Given the description of an element on the screen output the (x, y) to click on. 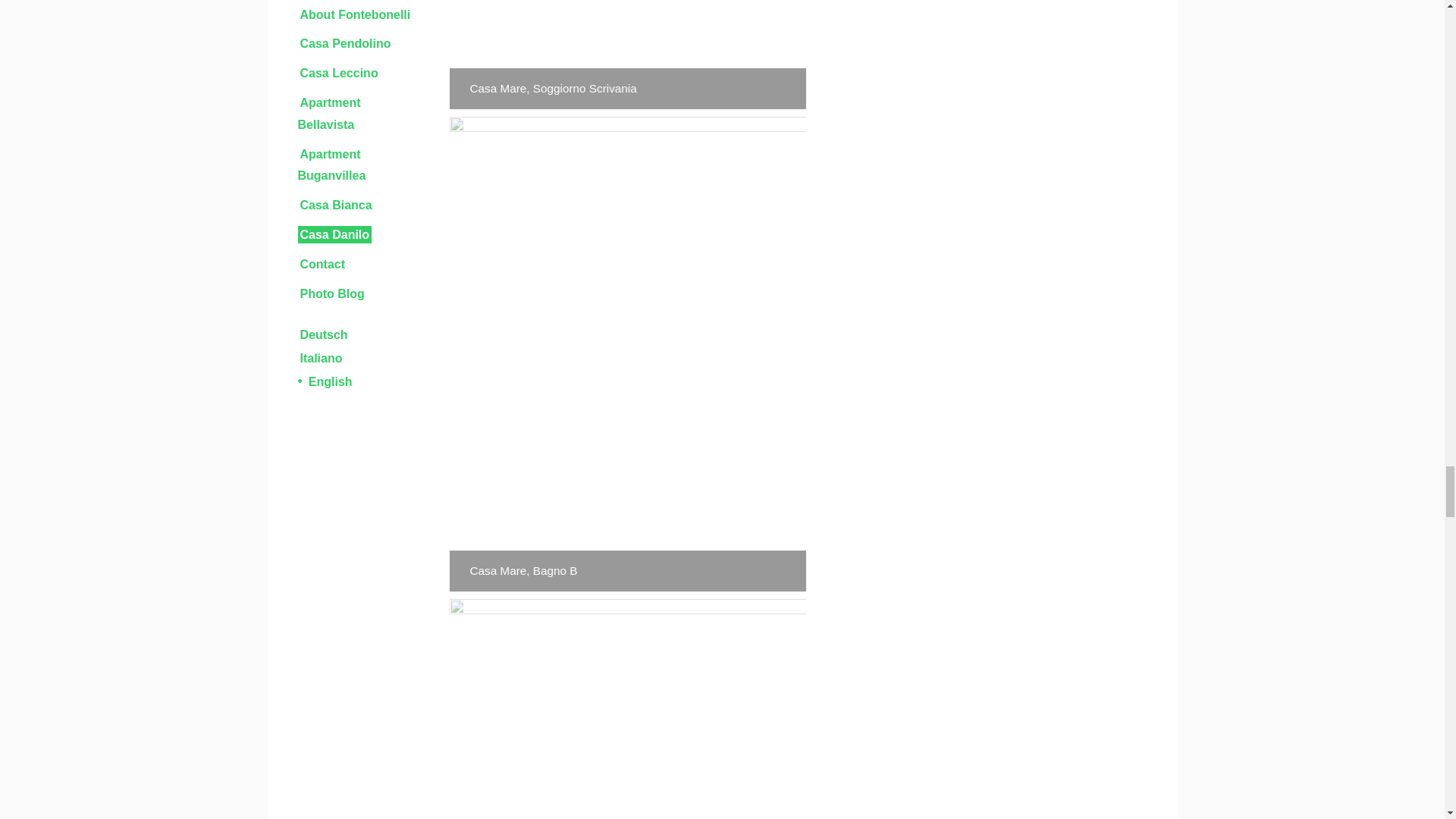
Casa Mare, Soggiorno Scrivania (626, 54)
